Given the description of an element on the screen output the (x, y) to click on. 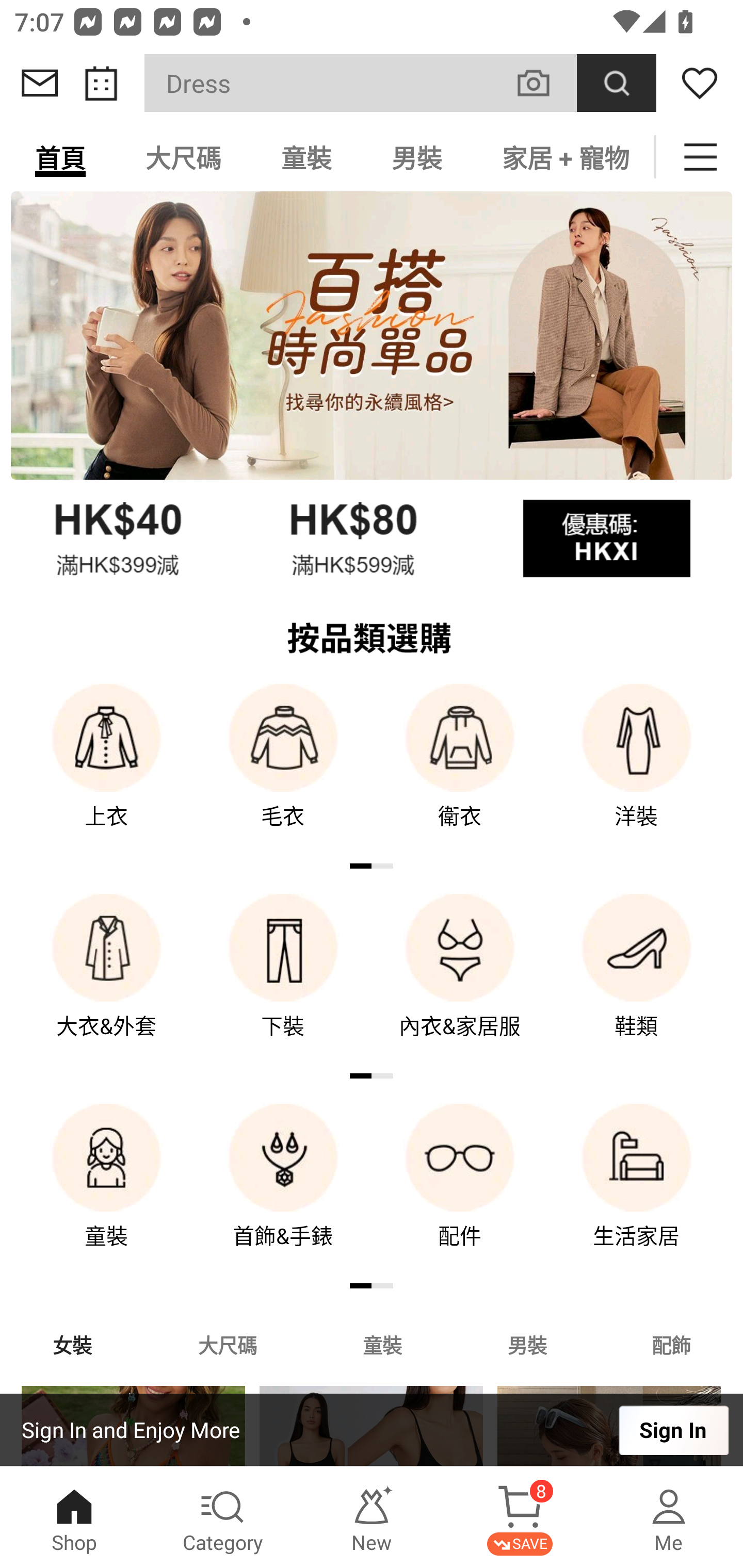
Wishlist (699, 82)
VISUAL SEARCH (543, 82)
首頁 (60, 156)
大尺碼 (183, 156)
童裝 (306, 156)
男裝 (416, 156)
家居 + 寵物 (563, 156)
上衣 (105, 769)
毛衣 (282, 769)
衛衣 (459, 769)
洋裝 (636, 769)
大衣&外套 (105, 979)
下裝 (282, 979)
內衣&家居服 (459, 979)
鞋類 (636, 979)
童裝 (105, 1189)
首飾&手錶 (282, 1189)
配件 (459, 1189)
生活家居 (636, 1189)
女裝 (72, 1344)
大尺碼 (226, 1344)
童裝 (381, 1344)
男裝 (527, 1344)
配飾 (671, 1344)
Sign In and Enjoy More Sign In (371, 1429)
Category (222, 1517)
New (371, 1517)
Cart 8 SAVE (519, 1517)
Me (668, 1517)
